Given the description of an element on the screen output the (x, y) to click on. 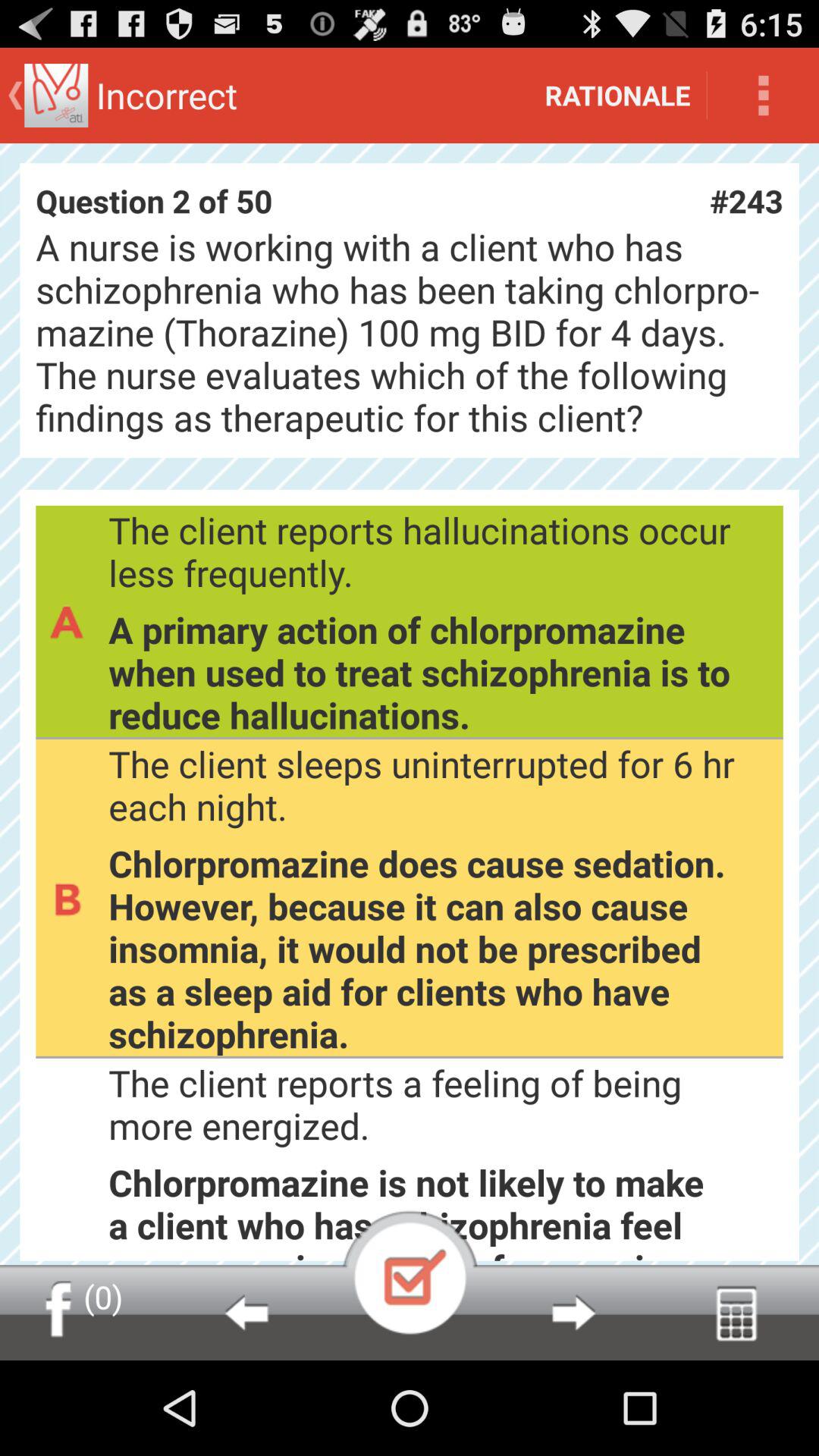
calculator (736, 1312)
